Given the description of an element on the screen output the (x, y) to click on. 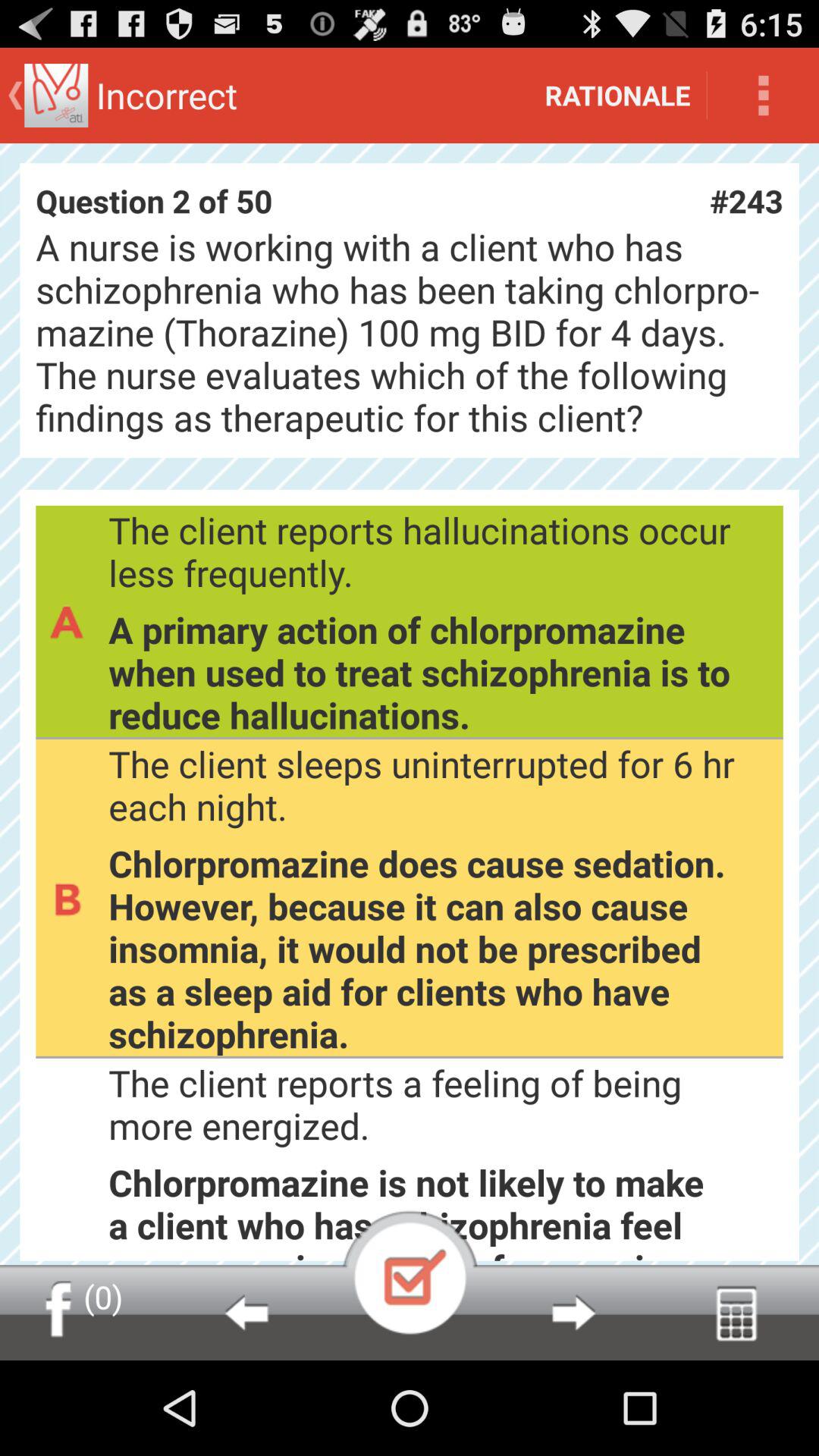
calculator (736, 1312)
